Given the description of an element on the screen output the (x, y) to click on. 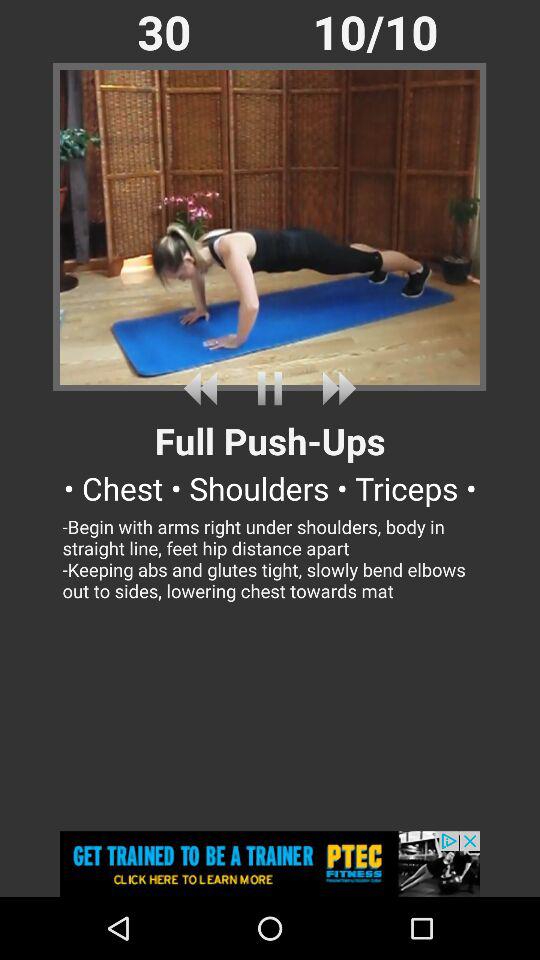
undo song (204, 388)
